Given the description of an element on the screen output the (x, y) to click on. 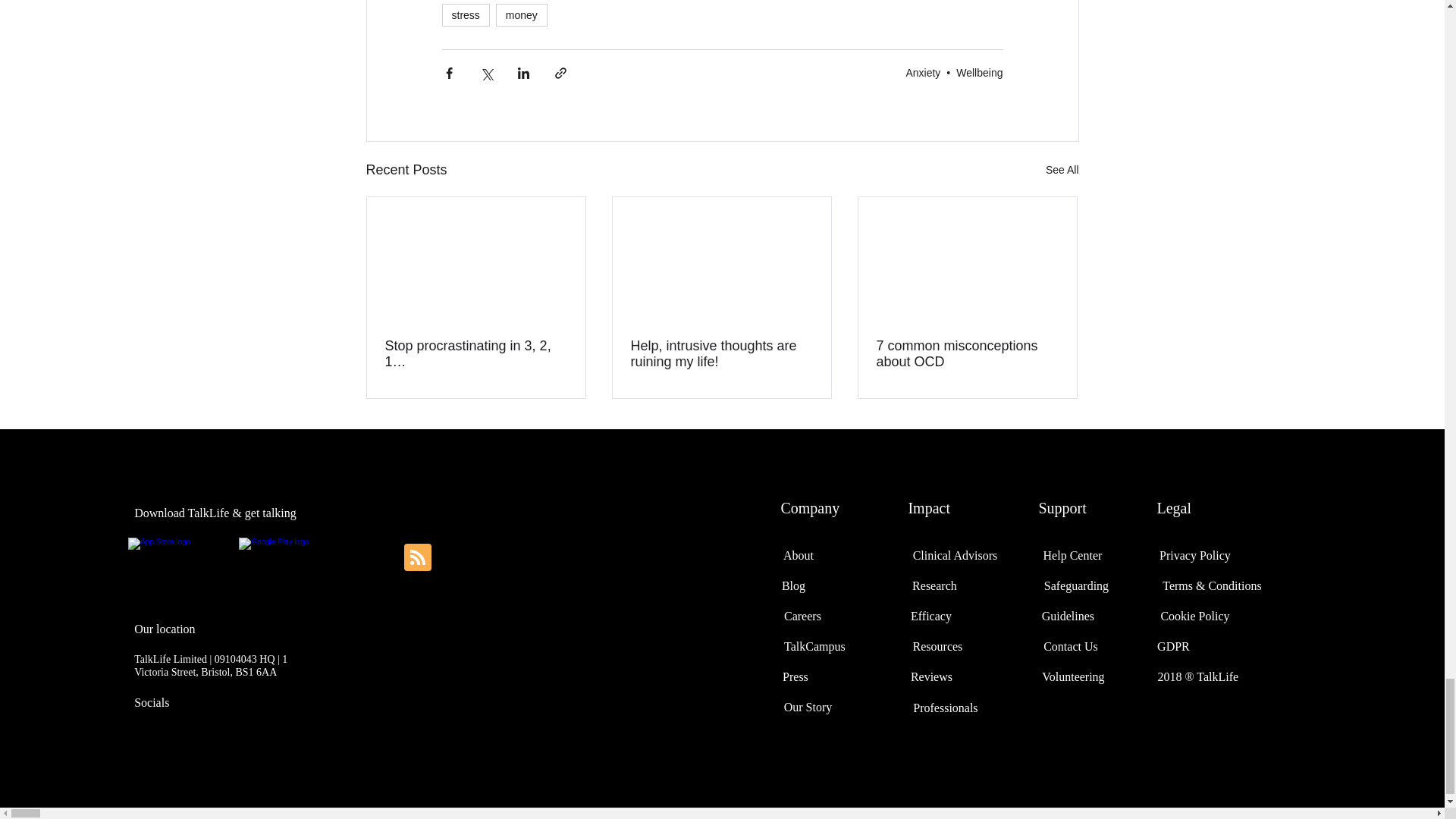
Help, intrusive thoughts are ruining my life! (721, 354)
Download on the App Store (184, 558)
See All (1061, 169)
Wellbeing (979, 72)
money (521, 15)
Get it on Google Play (299, 558)
Anxiety (922, 72)
stress (465, 15)
